Given the description of an element on the screen output the (x, y) to click on. 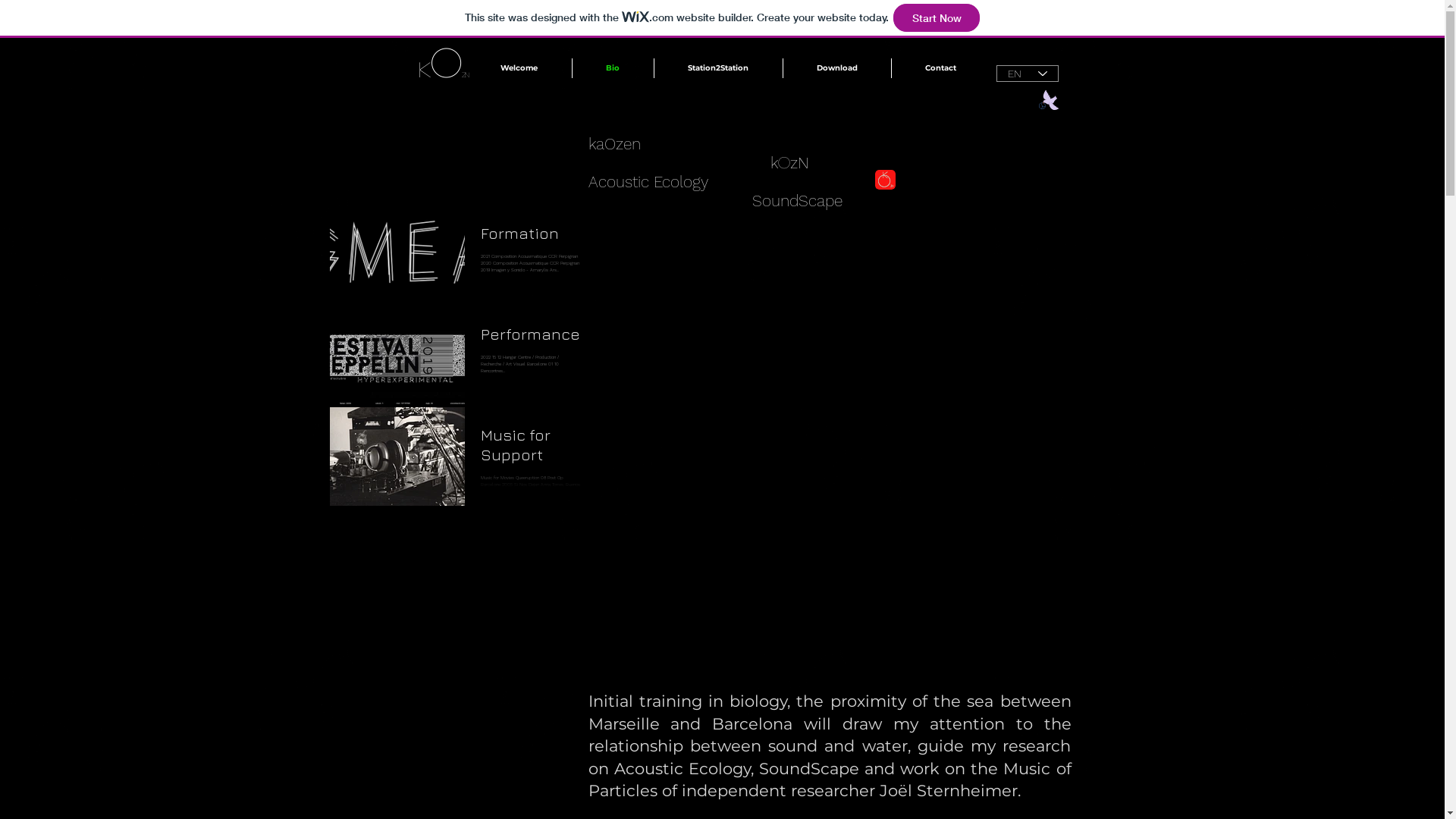
station2station Element type: hover (885, 179)
Formation Element type: text (530, 237)
Music for Support Element type: text (530, 449)
Station2Station Element type: text (717, 68)
Performance Element type: text (530, 338)
Bio Element type: text (611, 68)
Welcome Element type: text (519, 68)
Download Element type: text (836, 68)
Contact Element type: text (940, 68)
